Given the description of an element on the screen output the (x, y) to click on. 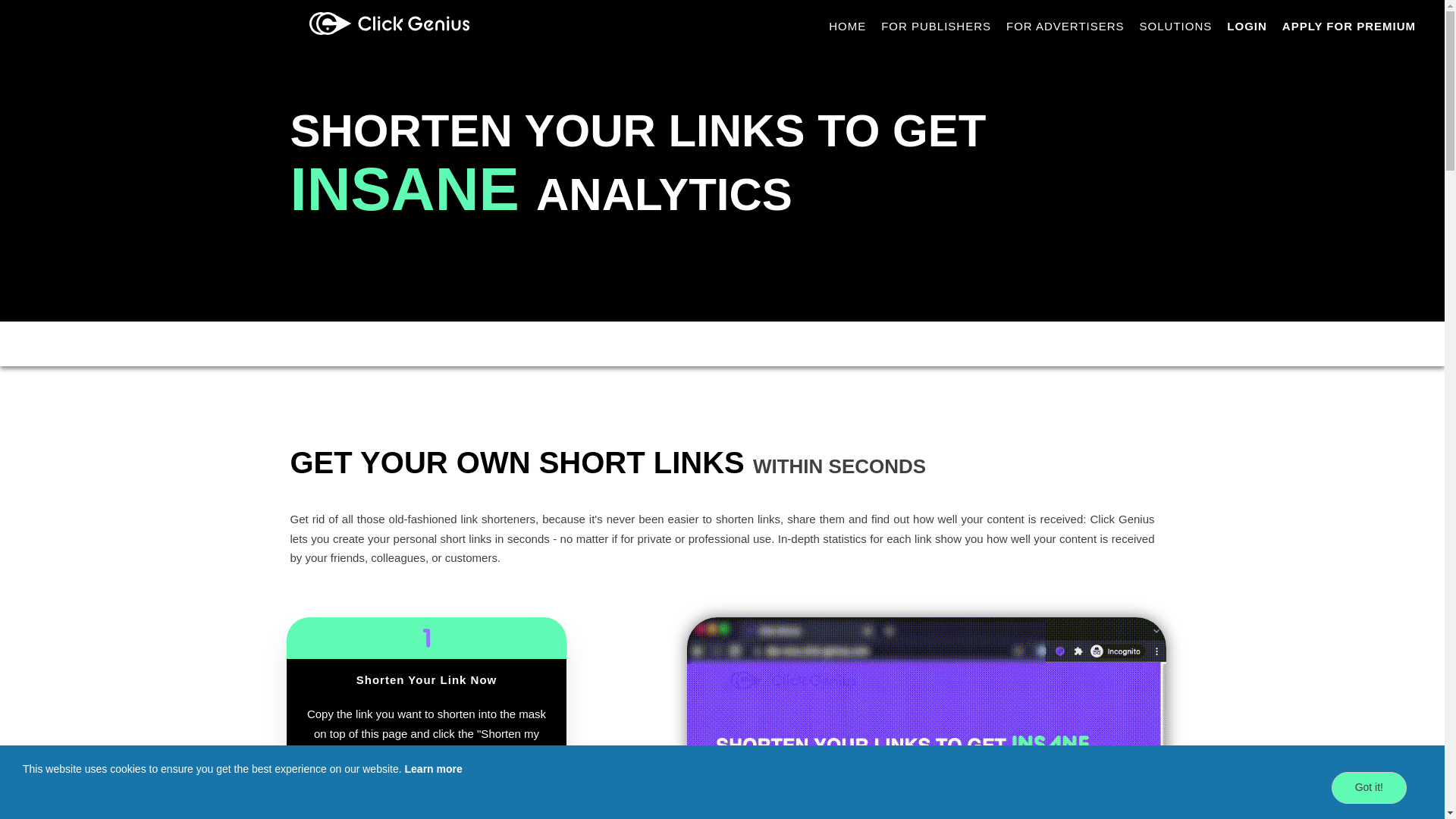
HOME (847, 26)
APPLY FOR PREMIUM (1349, 26)
FOR ADVERTISERS (1065, 26)
LOGIN (1247, 26)
Learn more (433, 768)
FOR PUBLISHERS (935, 26)
SOLUTIONS (1176, 26)
Got it! (1369, 787)
